Given the description of an element on the screen output the (x, y) to click on. 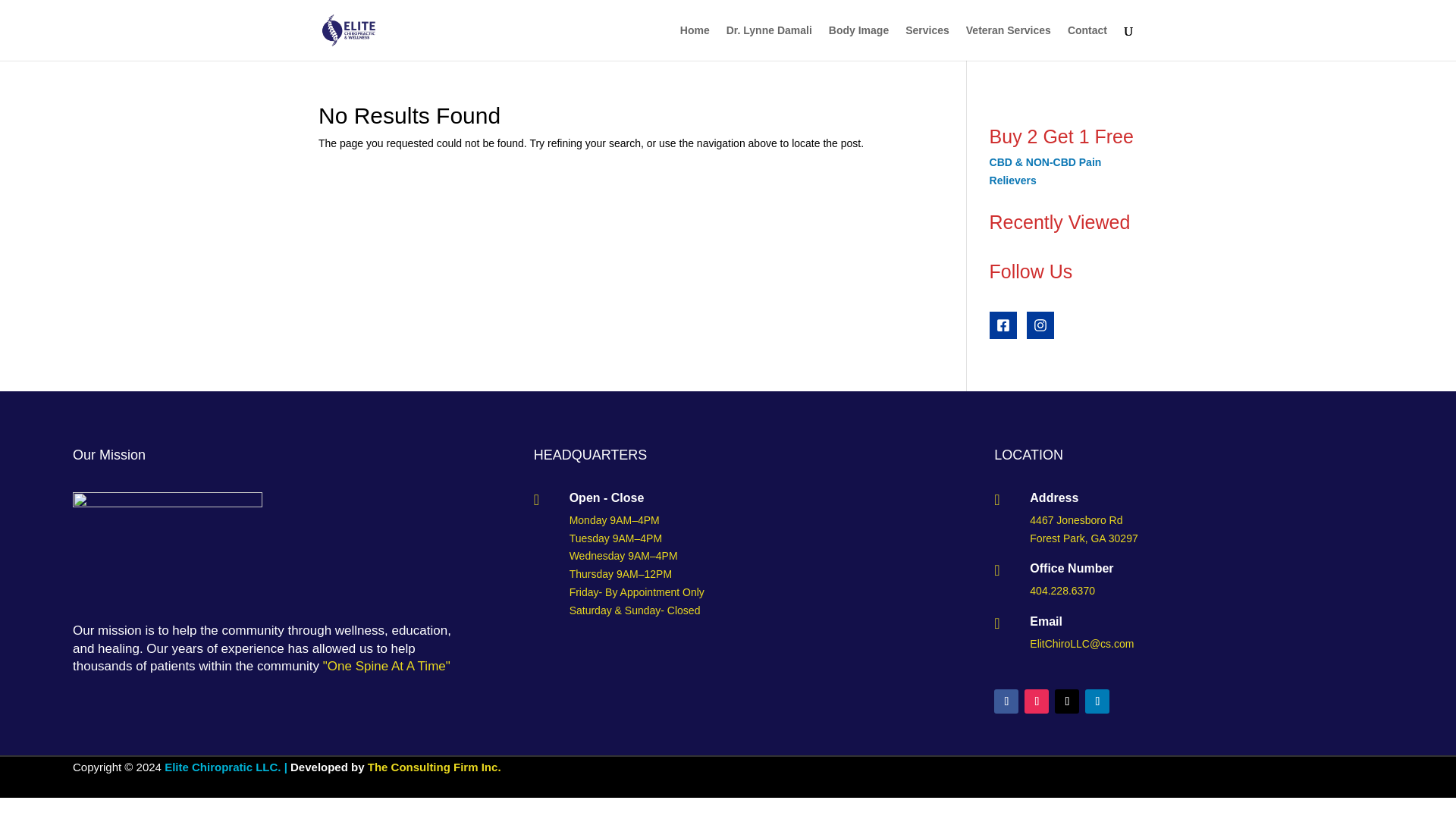
Elite-Chiro--White-1-Web-Logo (167, 549)
Follow on Facebook (1005, 701)
Follow on X (1066, 701)
Dr. Lynne Damali (769, 42)
Home (694, 42)
Developed by (327, 766)
The Consulting Firm Inc. (432, 766)
404.228.6370 (1061, 590)
Follow on LinkedIn (1096, 701)
Contact (1086, 42)
Follow on Instagram (1036, 701)
Body Image (858, 42)
Services (927, 42)
Veteran Services (1008, 42)
